Given the description of an element on the screen output the (x, y) to click on. 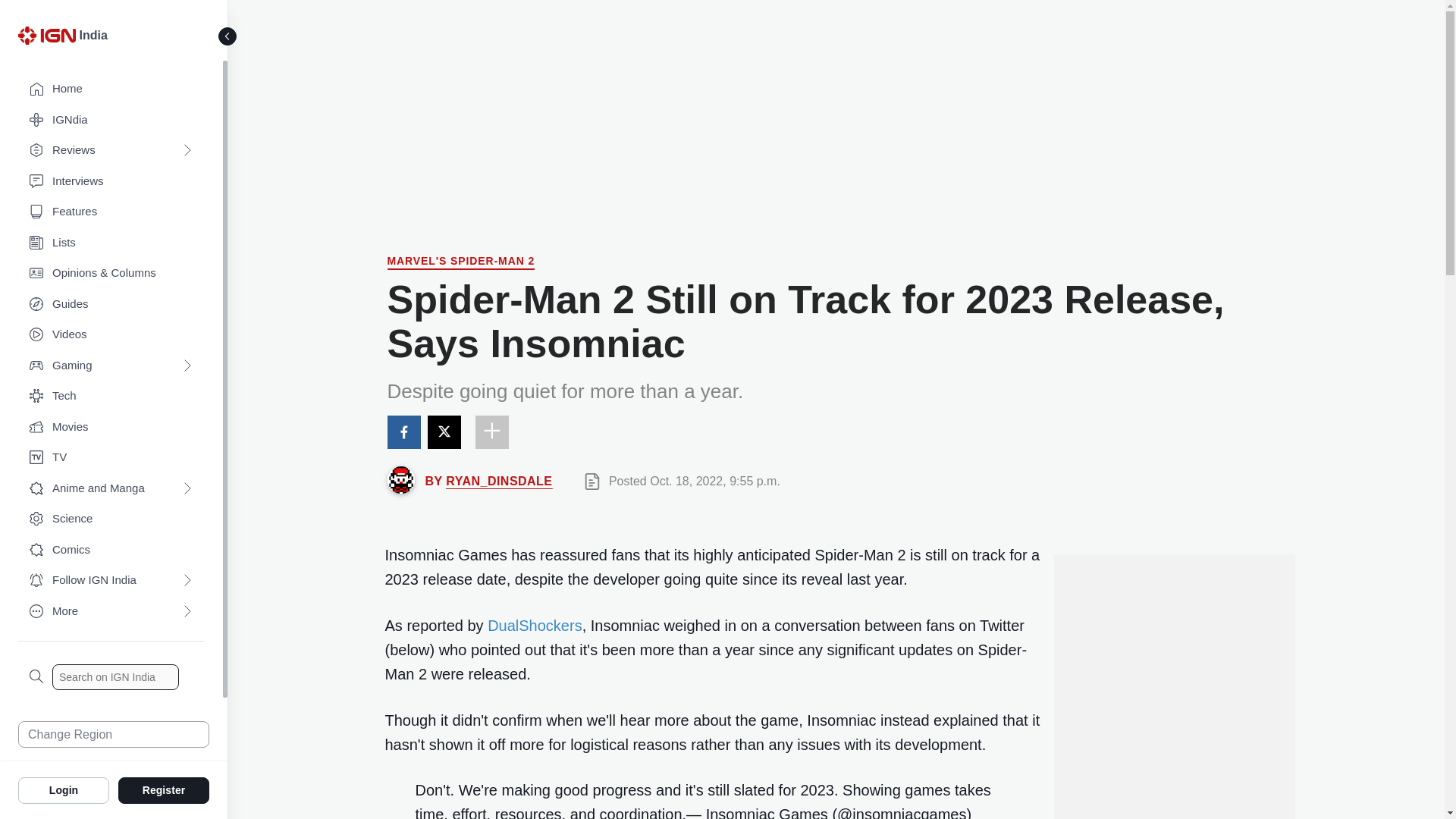
Toggle Sidebar (226, 36)
IGN Logo (48, 39)
Tech (111, 396)
Lists (111, 242)
Gaming (111, 365)
TV (111, 457)
Marvel's Spider-Man 2 (460, 262)
Interviews (111, 181)
More (111, 610)
Follow IGN India (111, 580)
